Given the description of an element on the screen output the (x, y) to click on. 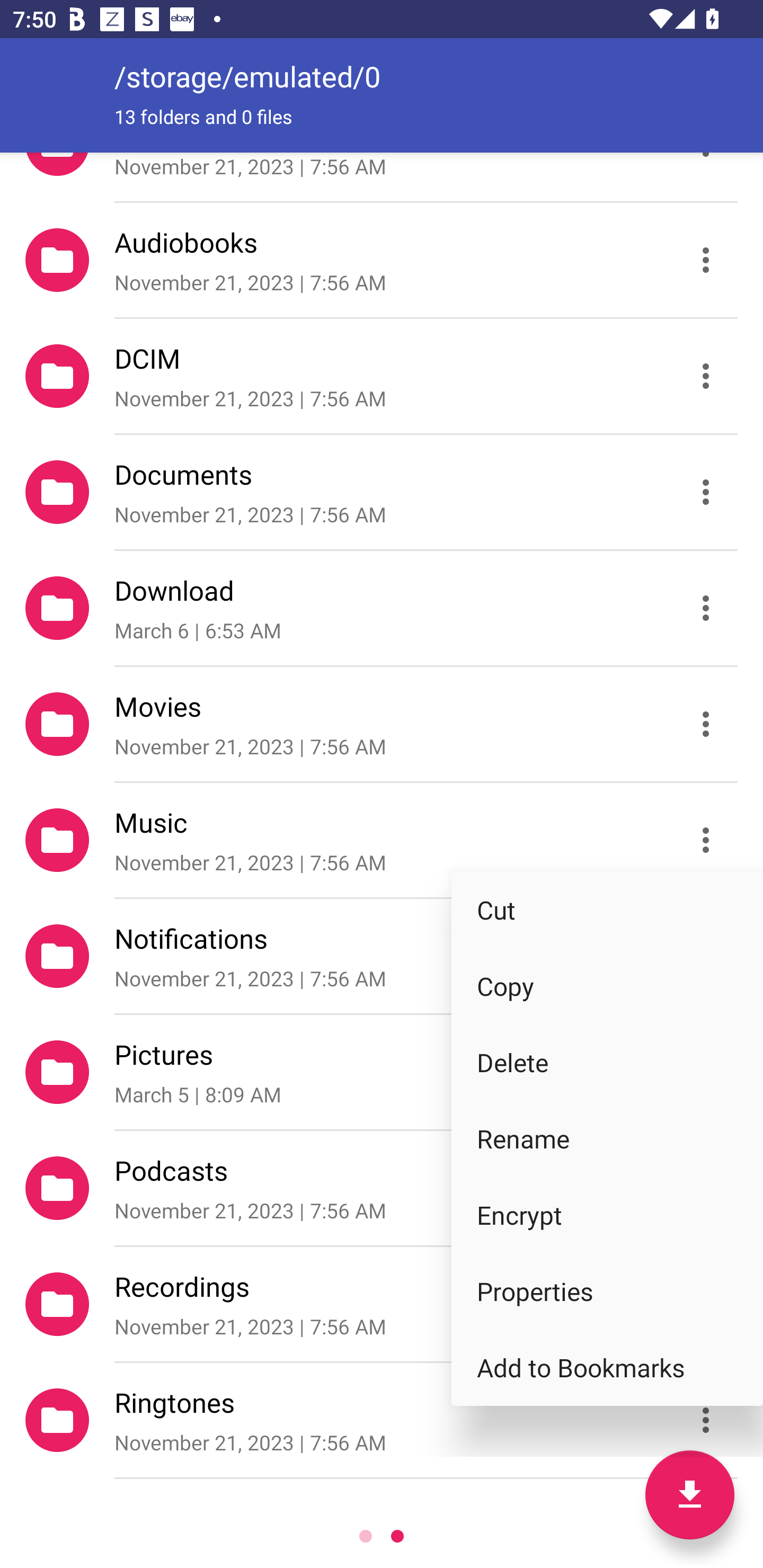
Cut (607, 909)
Copy (607, 985)
Delete (607, 1061)
Rename (607, 1138)
Encrypt (607, 1214)
Properties (607, 1290)
Add to Bookmarks (607, 1367)
